Given the description of an element on the screen output the (x, y) to click on. 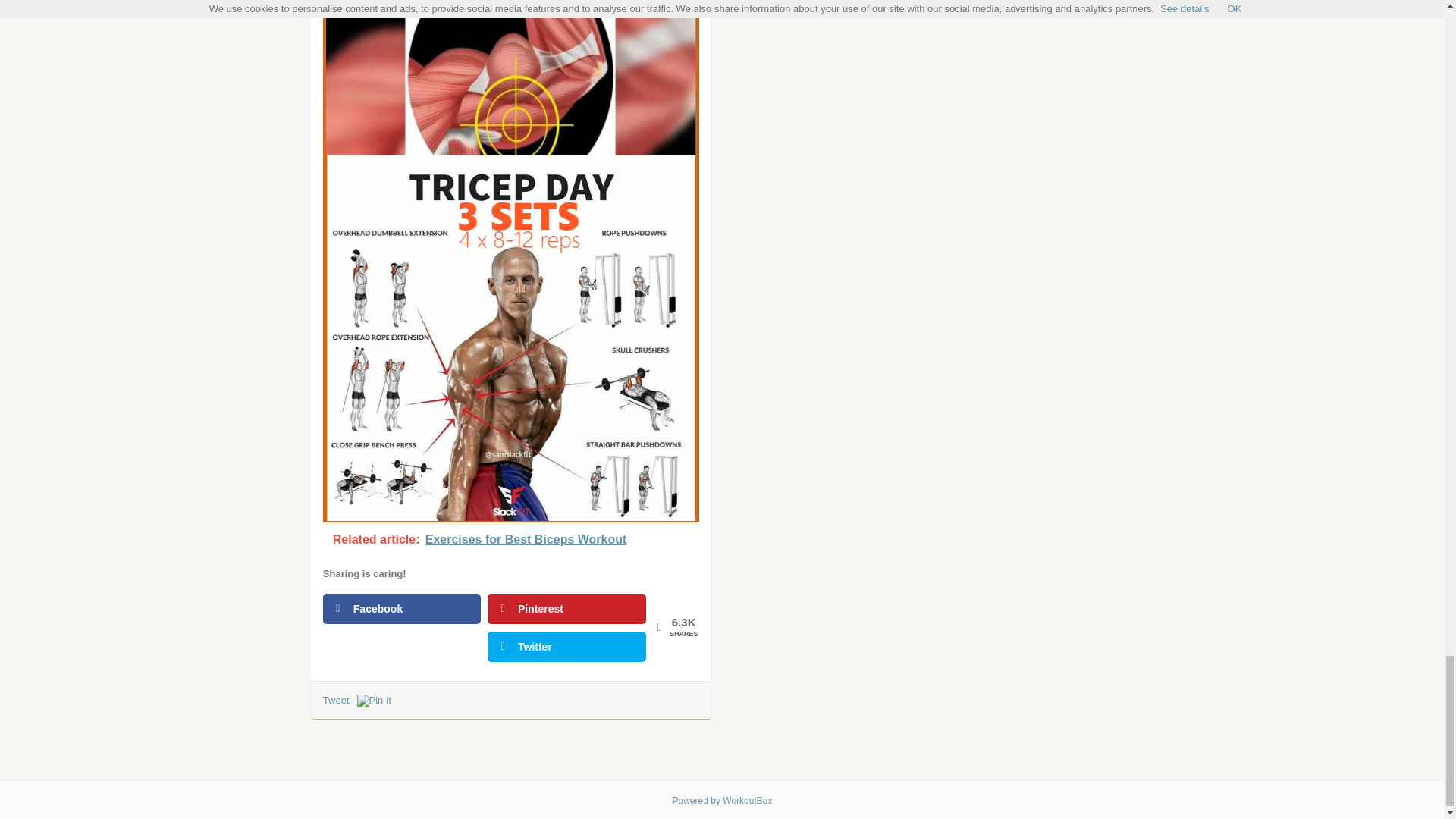
Pin It (373, 700)
